Given the description of an element on the screen output the (x, y) to click on. 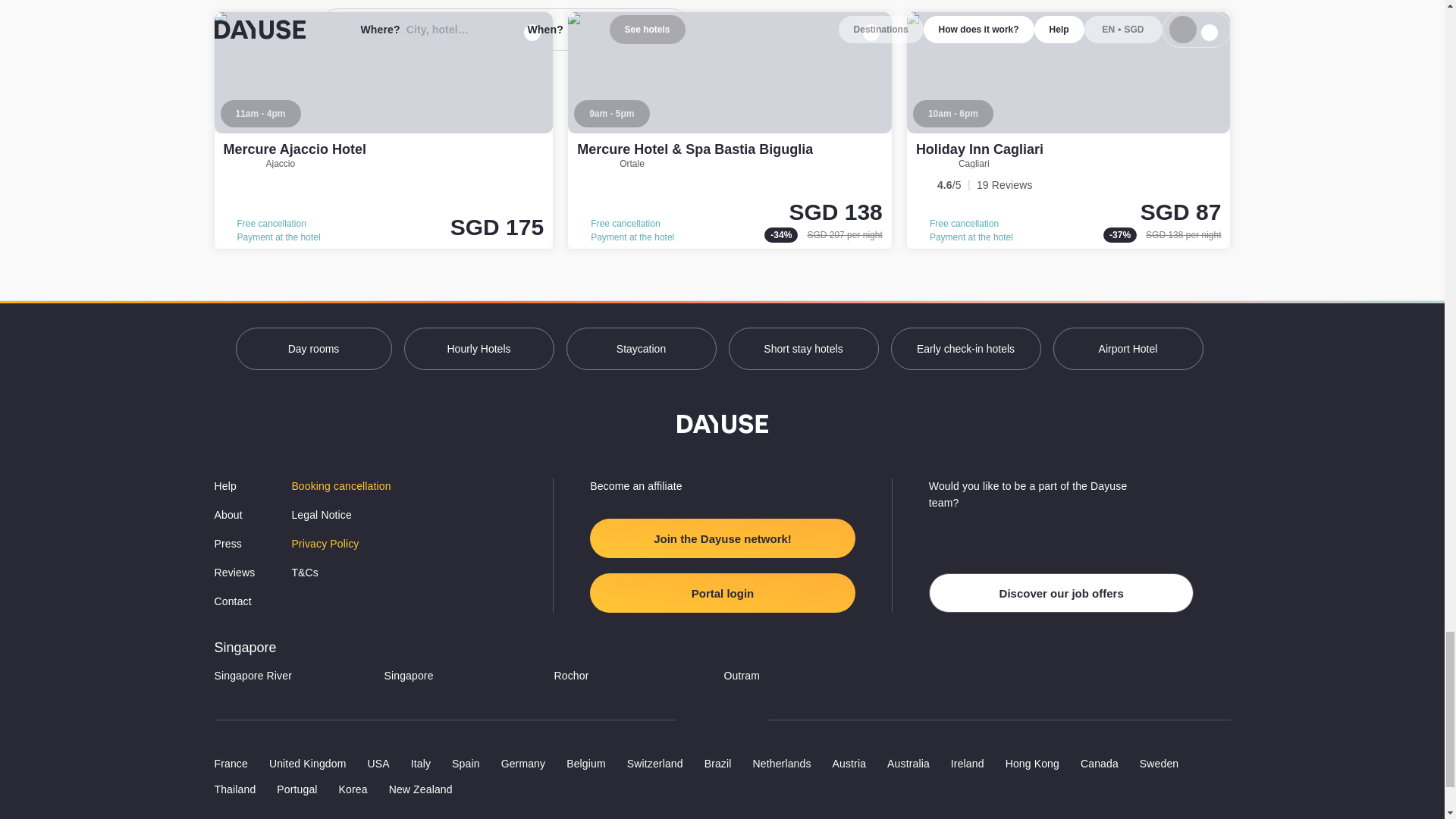
Holiday Inn Cagliari (979, 149)
Holiday Inn Cagliari (1068, 130)
Mercure Ajaccio Hotel (293, 149)
Mercure Ajaccio Hotel (383, 130)
